Given the description of an element on the screen output the (x, y) to click on. 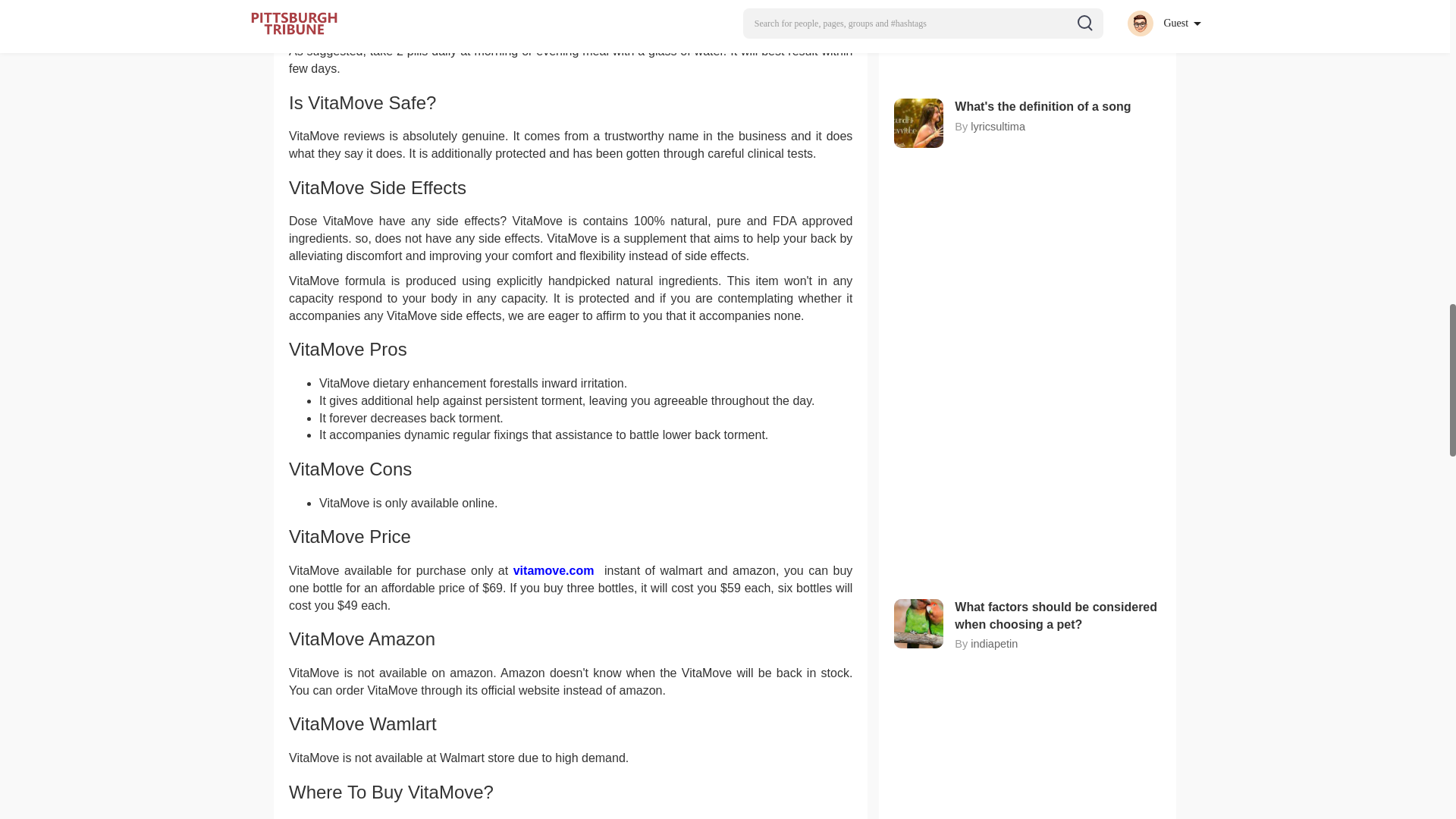
vitamove.com (556, 570)
